Given the description of an element on the screen output the (x, y) to click on. 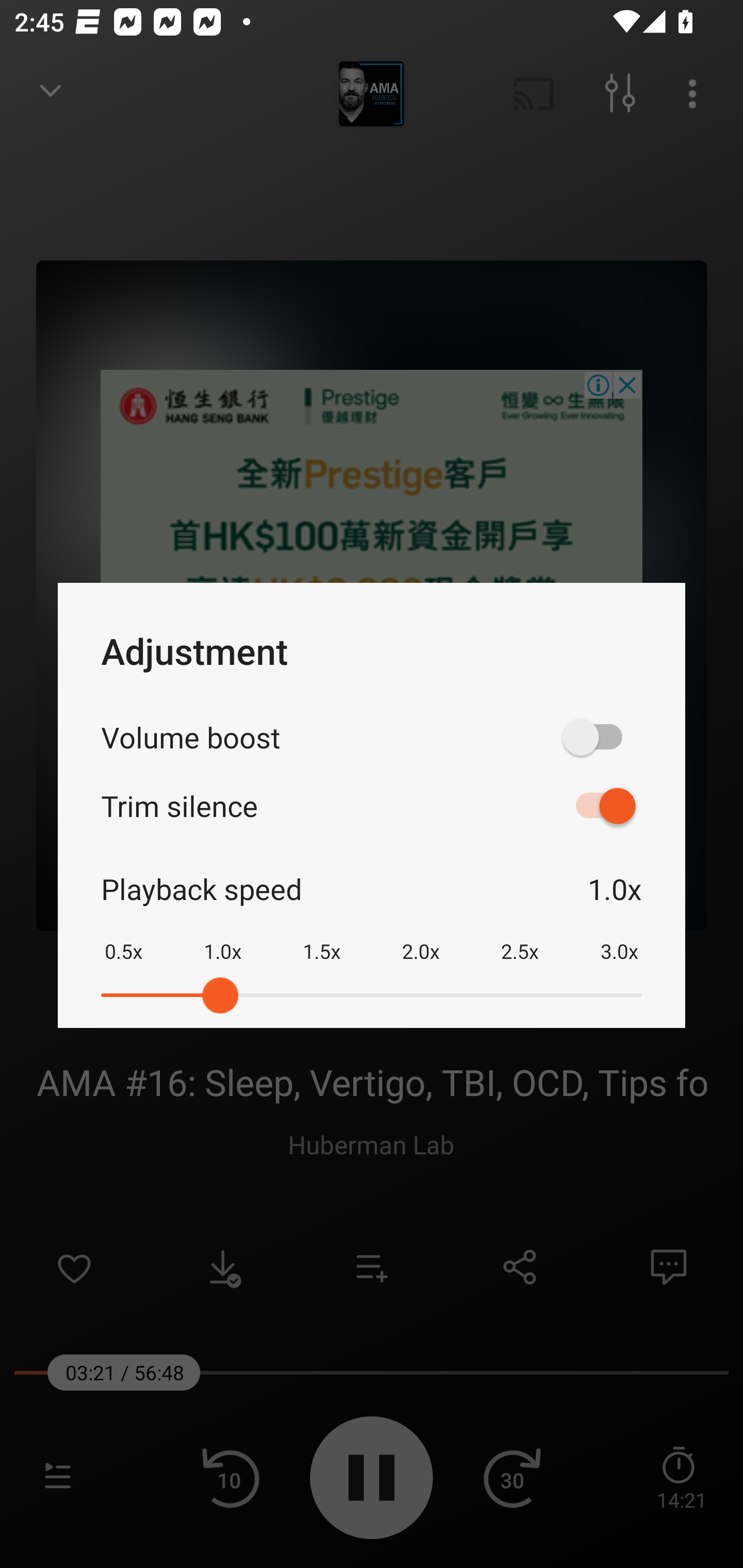
0.5x (123, 937)
1.0x (222, 937)
1.5x (321, 937)
2.0x (420, 937)
2.5x (519, 937)
3.0x (618, 937)
